Given the description of an element on the screen output the (x, y) to click on. 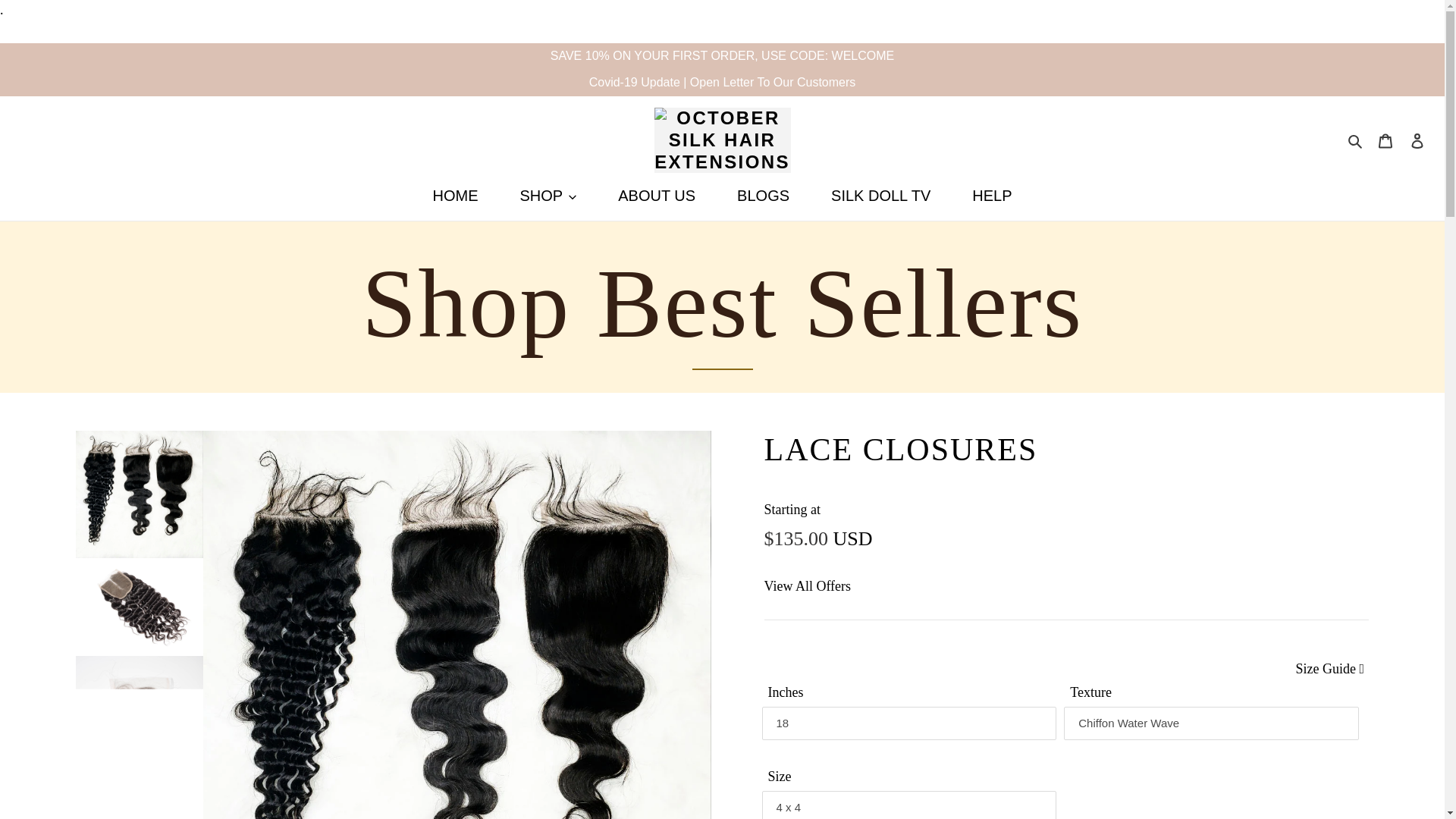
HELP (991, 196)
Cart (1385, 140)
Size Guide (1329, 669)
BLOGS (762, 196)
SILK DOLL TV (880, 196)
Search (1356, 140)
Log in (1416, 140)
SHOP (548, 196)
ABOUT US (656, 196)
HOME (454, 196)
